Given the description of an element on the screen output the (x, y) to click on. 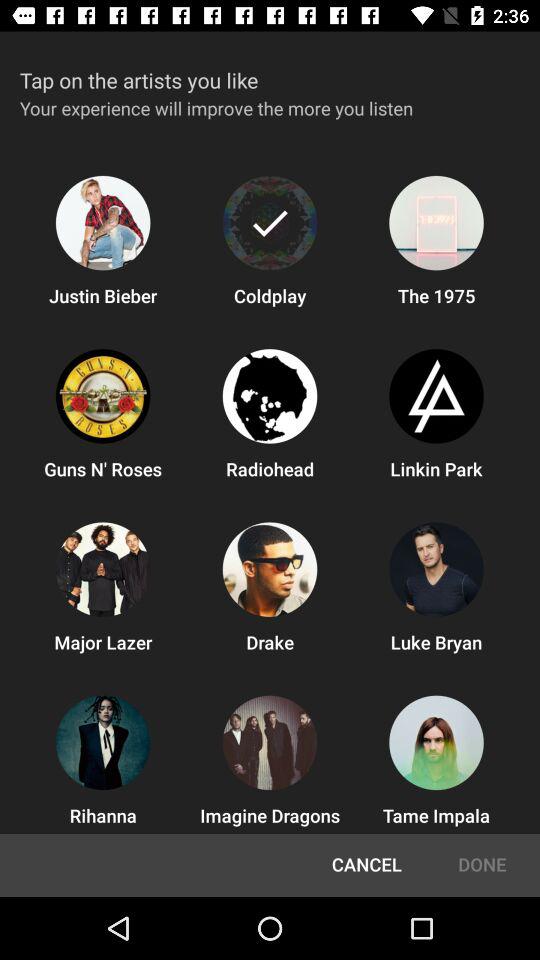
turn on the icon next to done (366, 865)
